Given the description of an element on the screen output the (x, y) to click on. 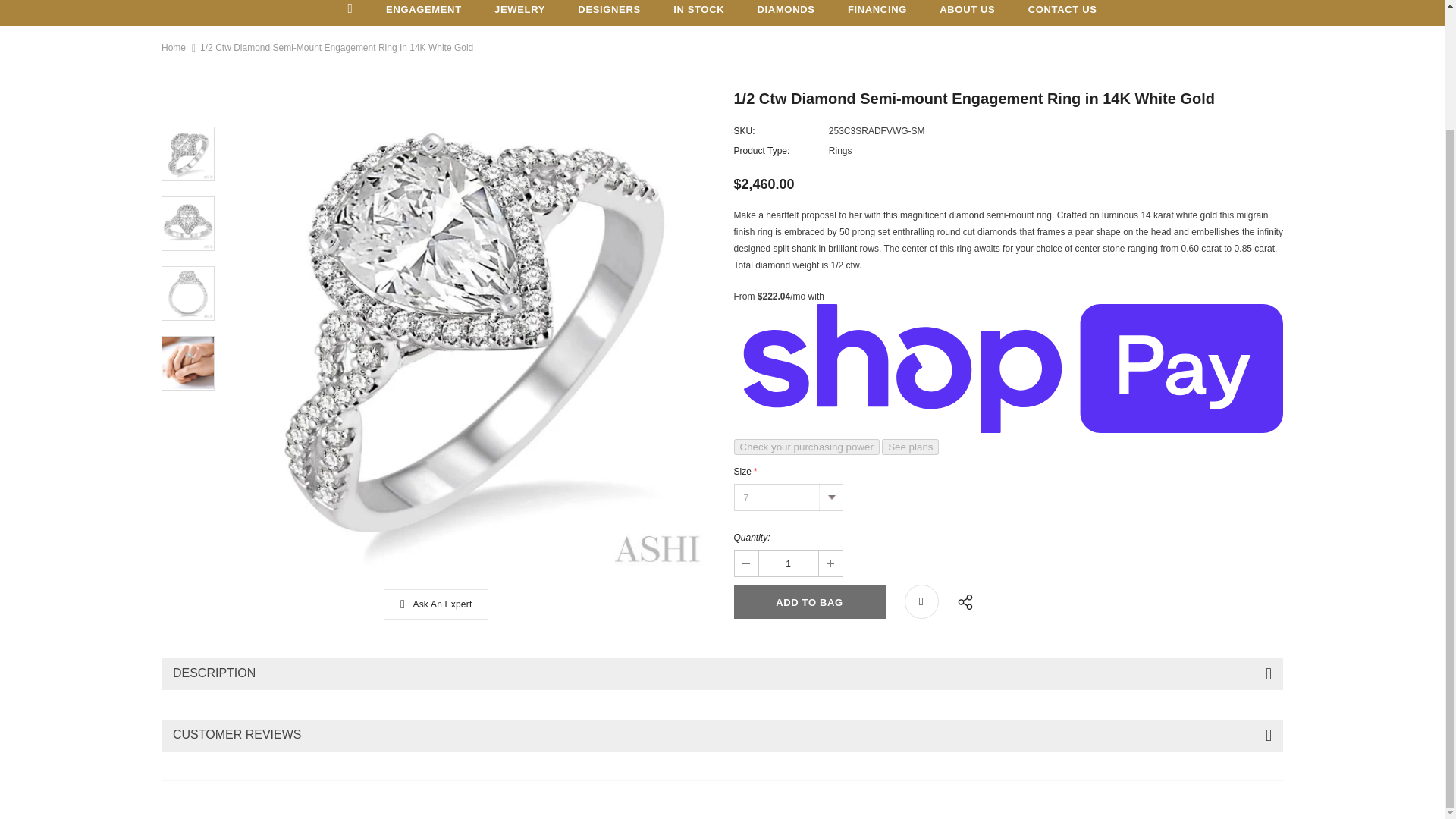
1 (787, 563)
Add to Bag (809, 601)
